Given the description of an element on the screen output the (x, y) to click on. 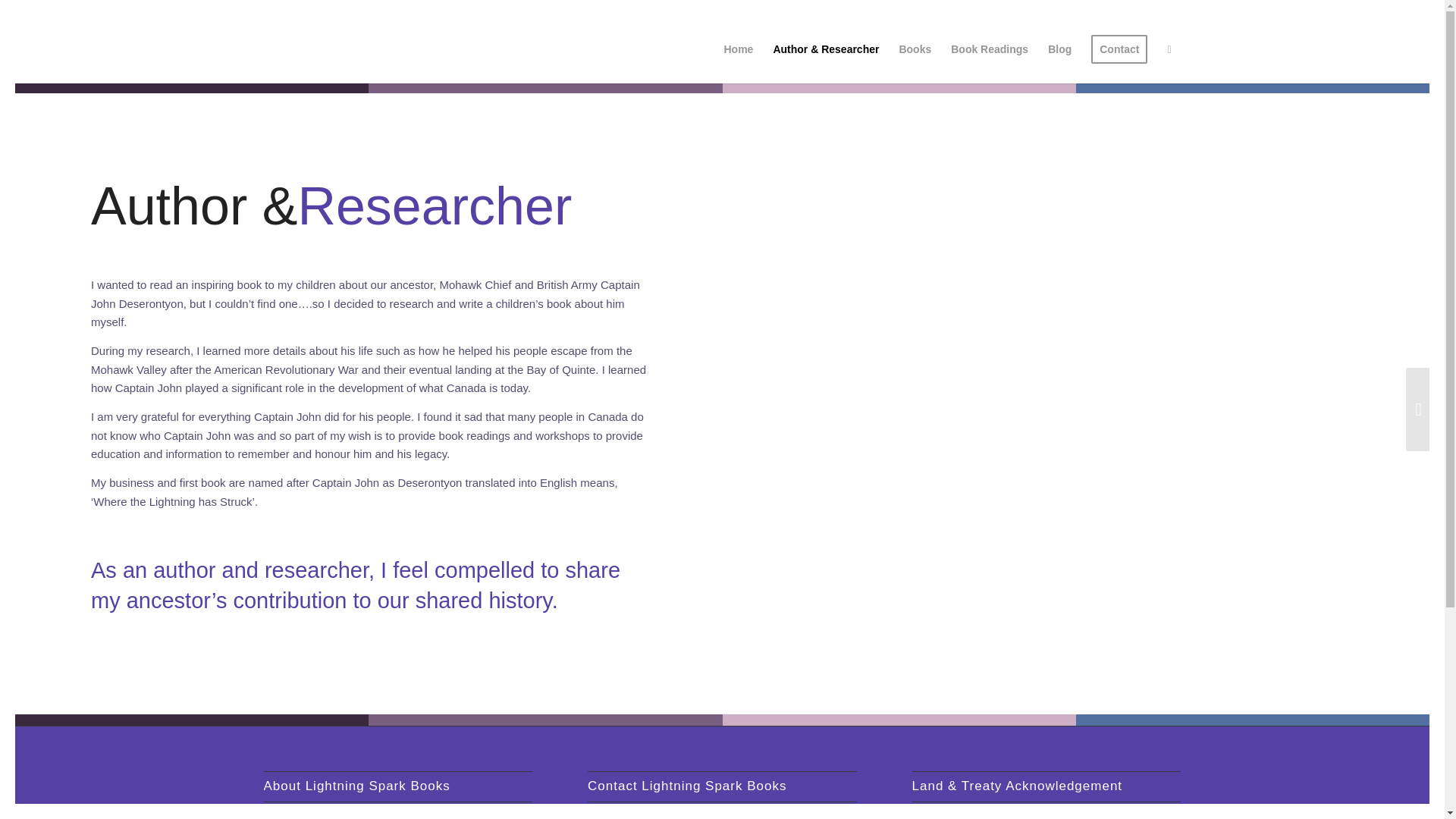
Books (914, 49)
Book Readings (989, 49)
Blog (1059, 49)
Contact (1119, 49)
Home (737, 49)
